Given the description of an element on the screen output the (x, y) to click on. 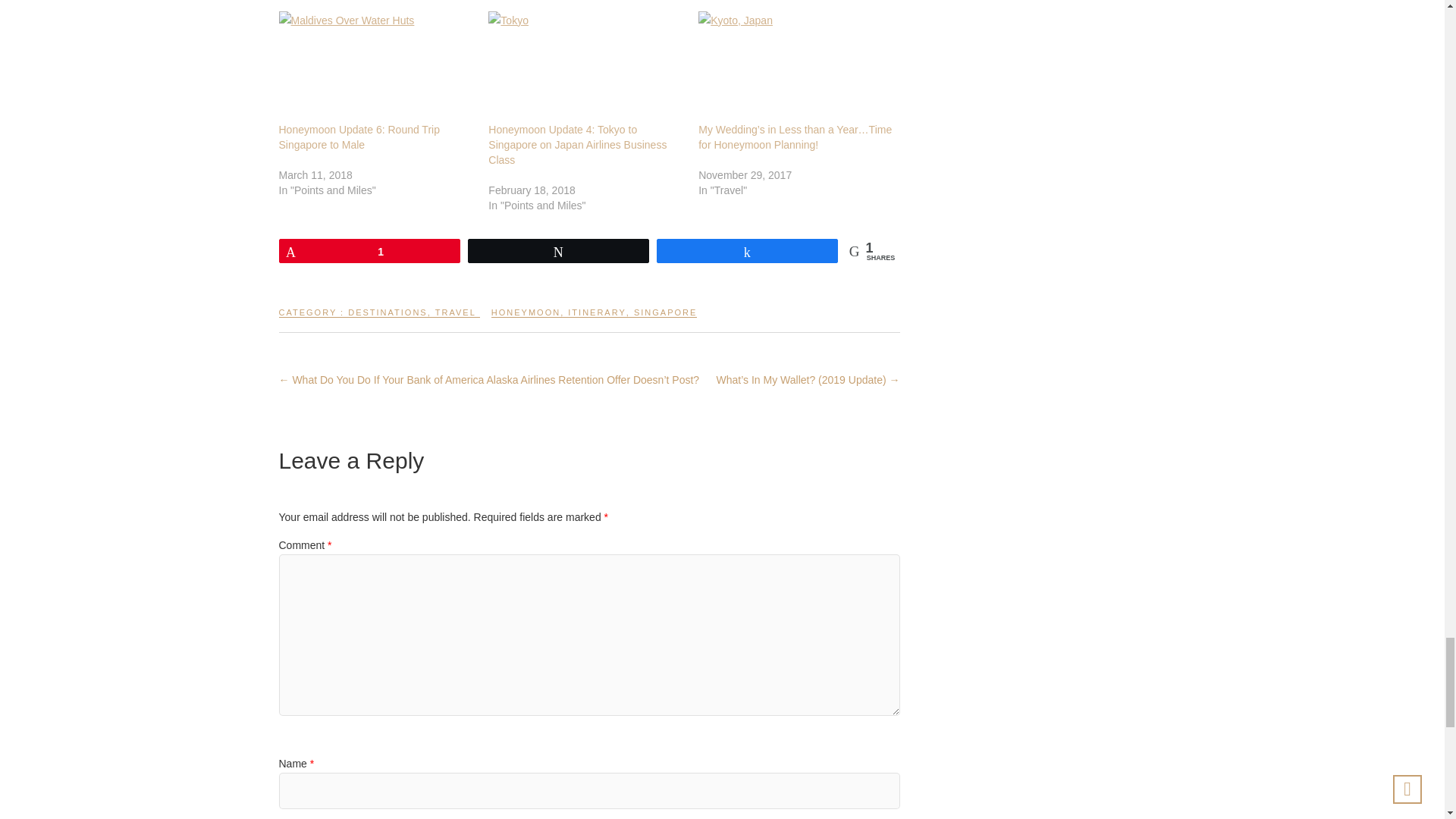
Honeymoon Update 6: Round Trip Singapore to Male (359, 136)
Honeymoon Update 6: Round Trip Singapore to Male (376, 66)
